Given the description of an element on the screen output the (x, y) to click on. 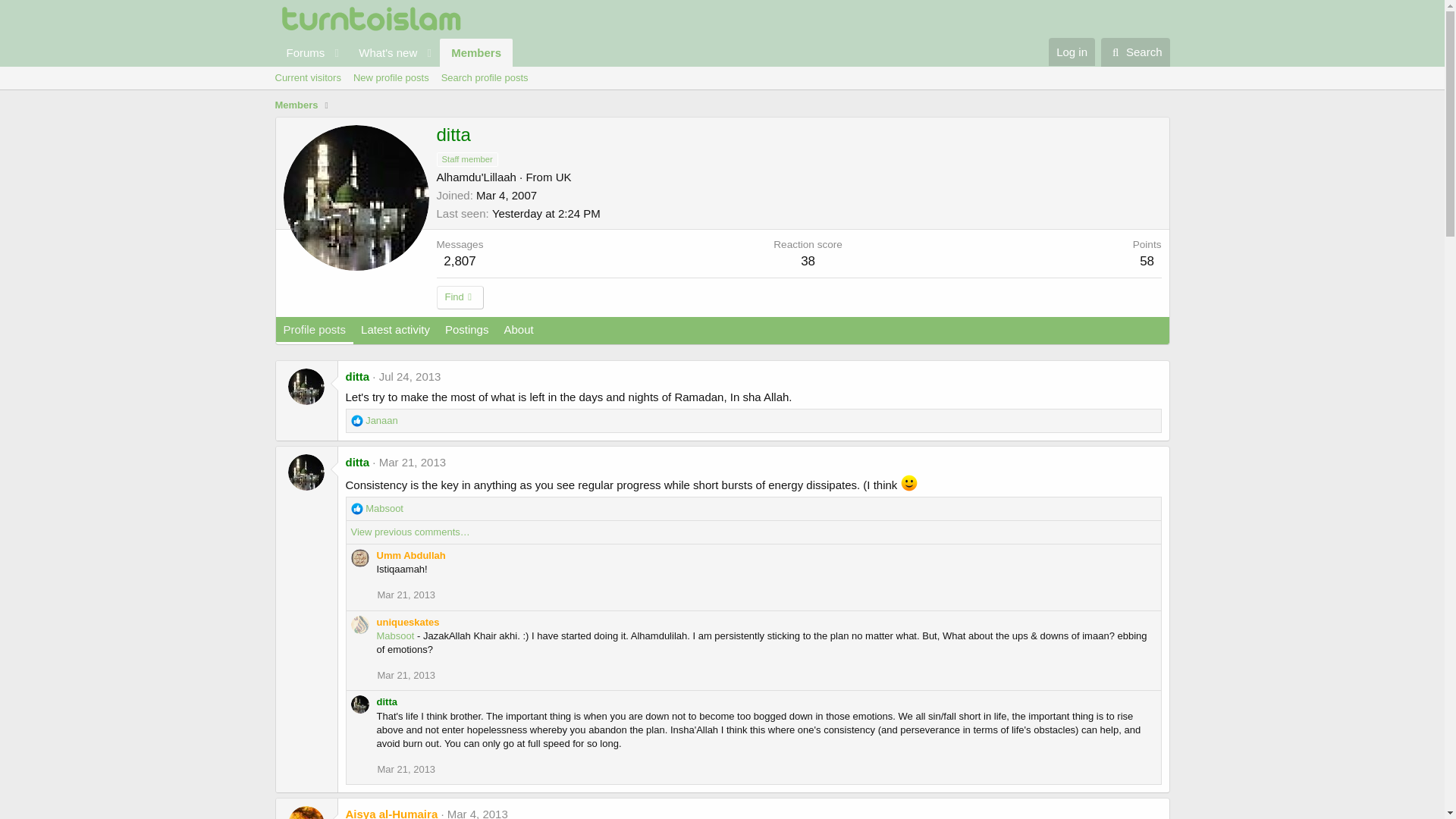
Profile posts Latest activity Postings About (408, 347)
Mar 21, 2013 at 8:20 AM (406, 594)
Like (356, 508)
Members (475, 52)
Members (296, 105)
New profile posts (391, 77)
Find (460, 296)
Mar 21, 2013 at 1:27 PM (406, 768)
What's new (383, 52)
Jul 24, 2013 at 2:12 AM (409, 376)
Postings (467, 329)
Profile posts (314, 329)
Search (1135, 51)
Mar 4, 2007 at 1:00 PM (506, 195)
Latest activity (395, 329)
